Given the description of an element on the screen output the (x, y) to click on. 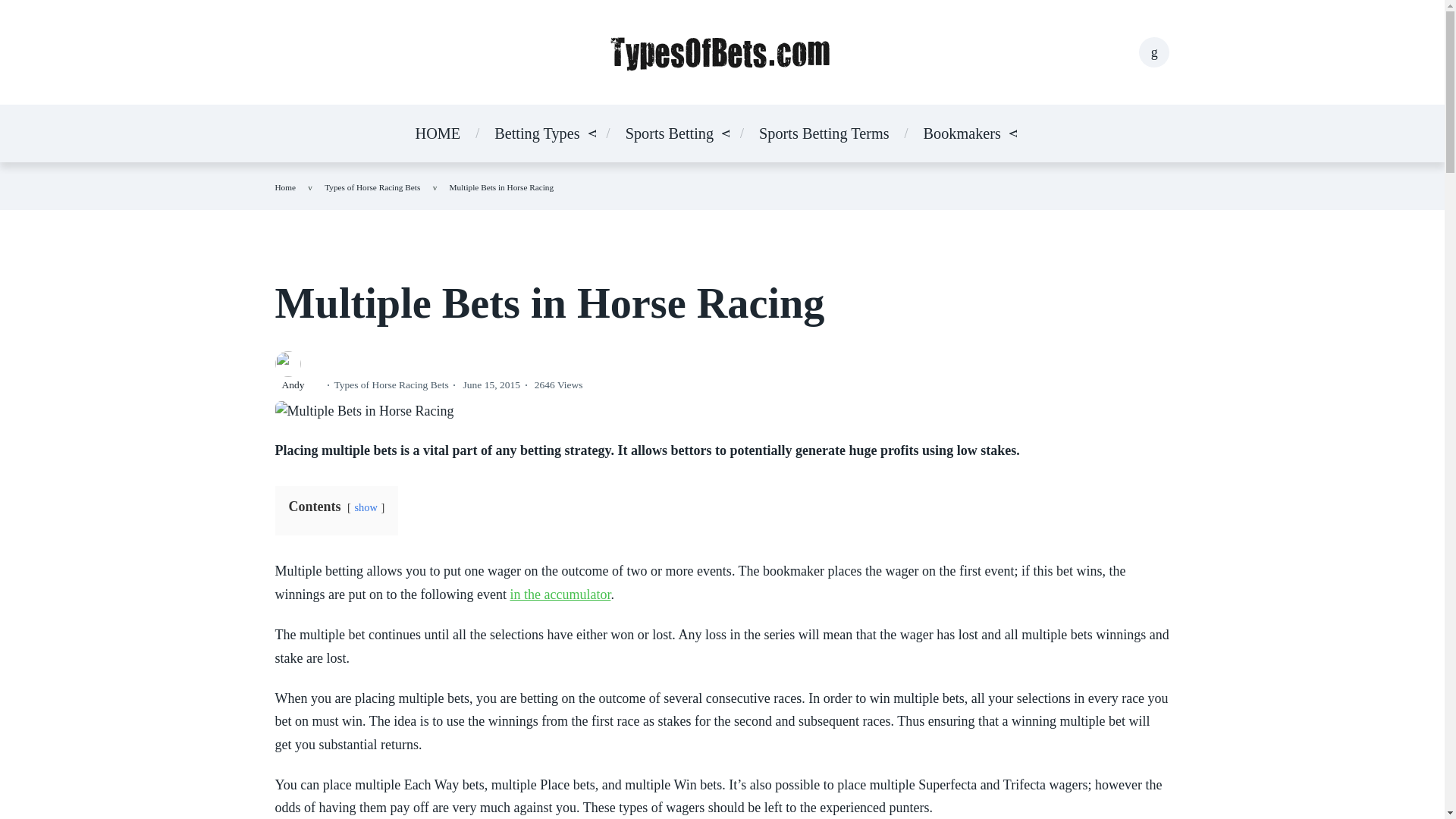
Bookmakers (962, 132)
Betting Types (537, 132)
Sports Betting (669, 132)
Types of sports bets (537, 132)
HOME (437, 132)
Sports Betting Terms (823, 132)
